Given the description of an element on the screen output the (x, y) to click on. 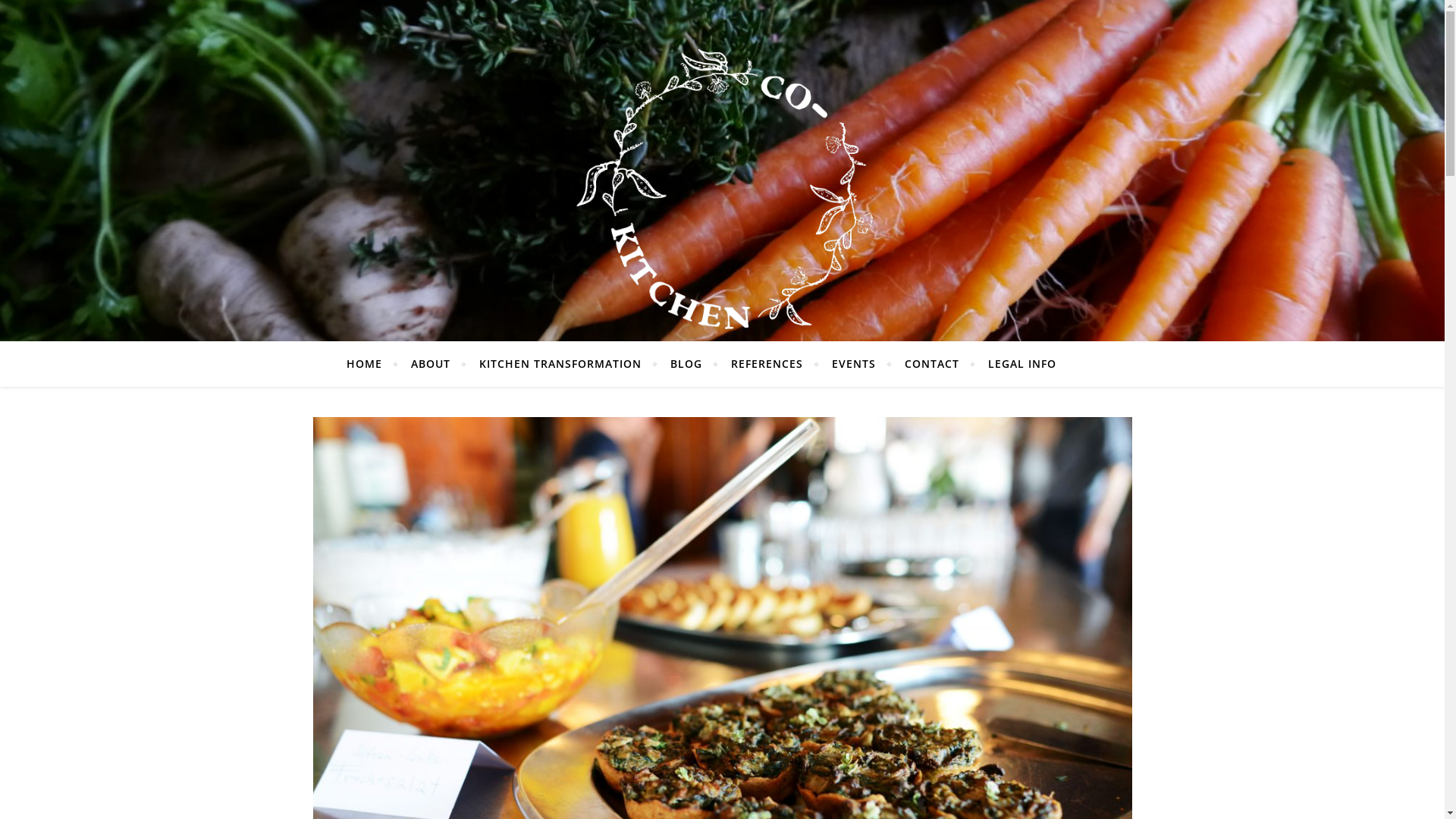
KITCHEN TRANSFORMATION Element type: text (560, 363)
HOME Element type: text (370, 363)
co-kitchen Element type: hover (721, 189)
BLOG Element type: text (686, 363)
ABOUT Element type: text (430, 363)
EVENTS Element type: text (853, 363)
REFERENCES Element type: text (766, 363)
CONTACT Element type: text (931, 363)
LEGAL INFO Element type: text (1015, 363)
